Given the description of an element on the screen output the (x, y) to click on. 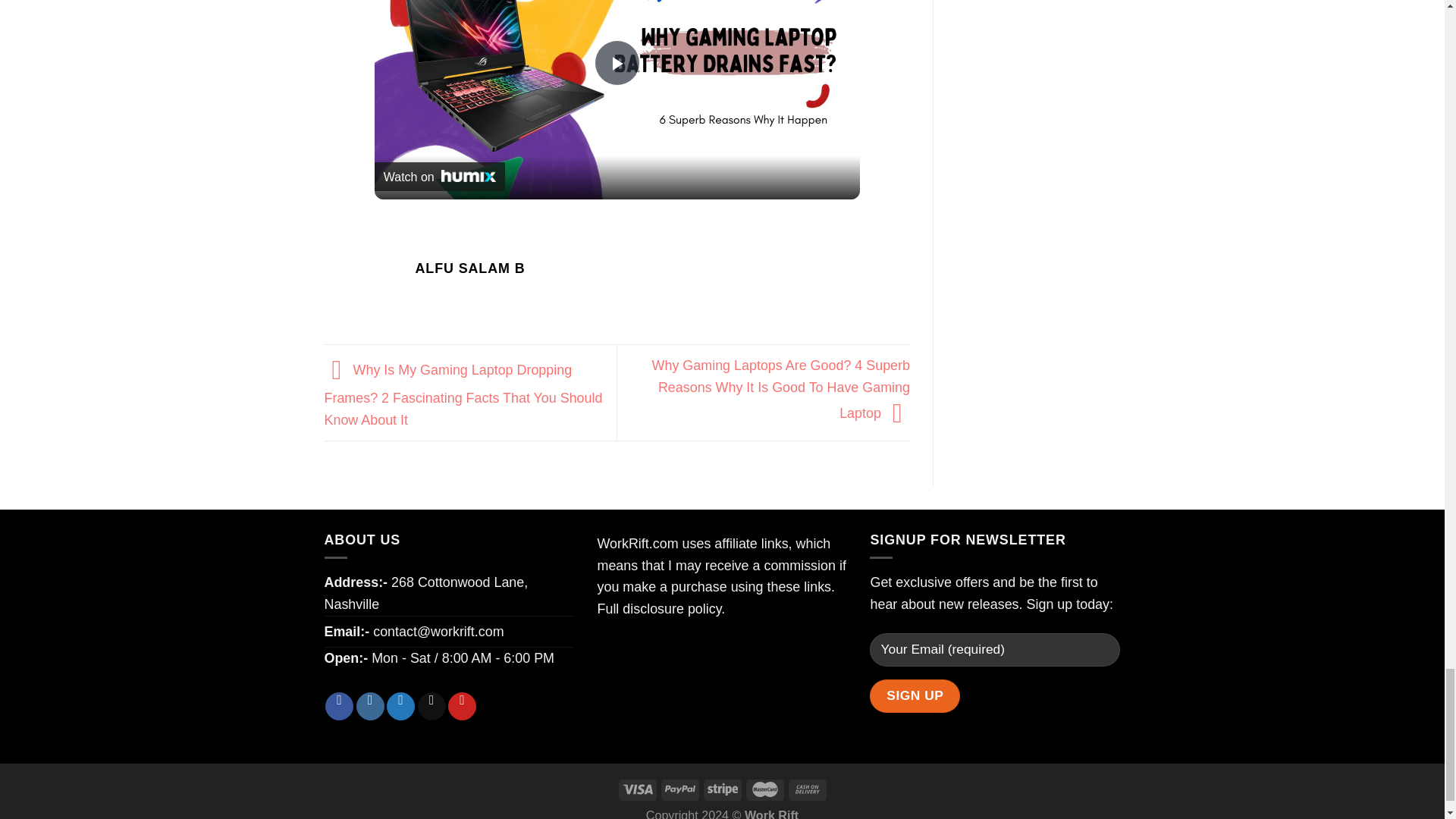
Sign Up (914, 695)
